Given the description of an element on the screen output the (x, y) to click on. 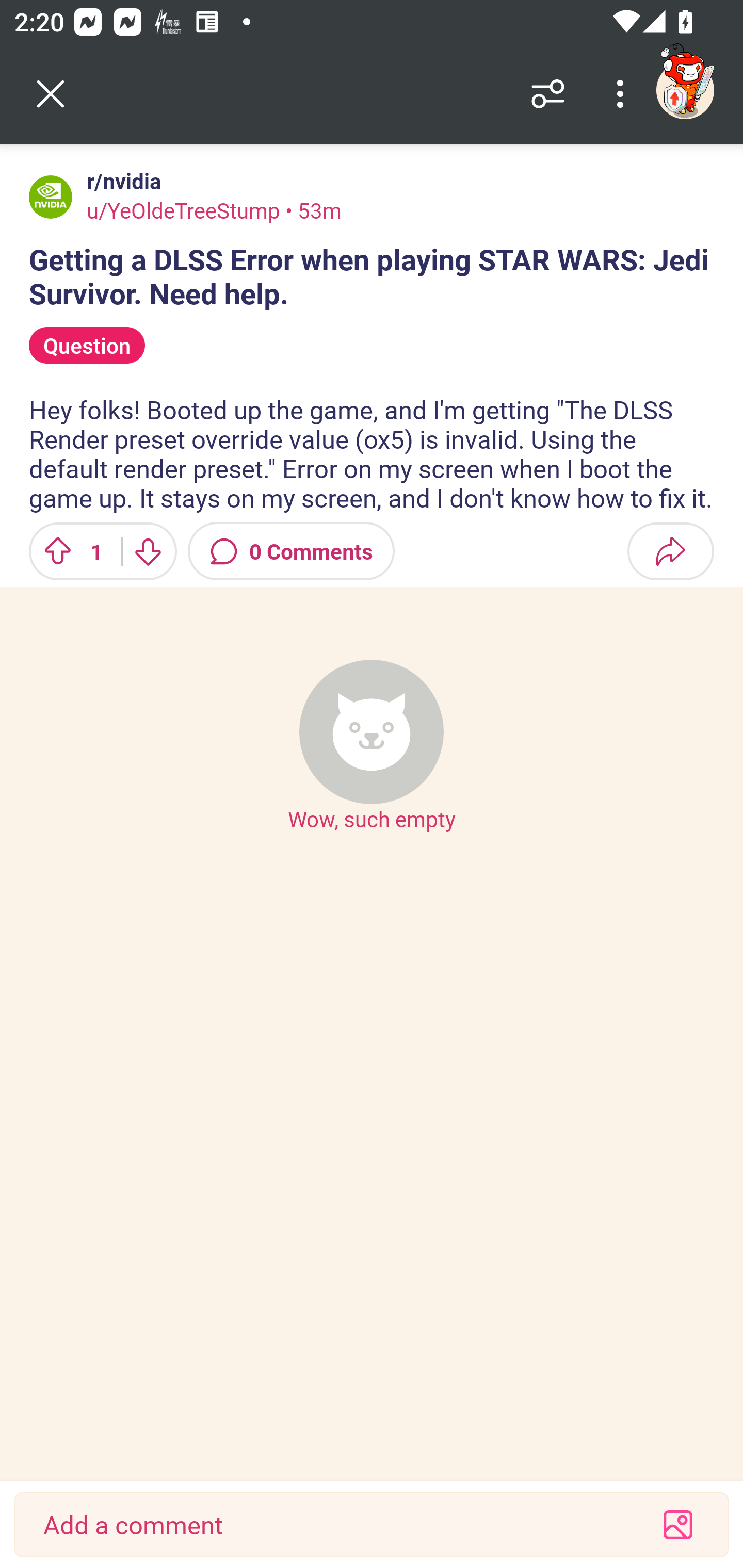
Back (50, 93)
TestAppium002 account (685, 90)
Sort comments (547, 93)
More options (623, 93)
r/nvidia (120, 181)
Avatar (50, 196)
u/YeOldeTreeStump (183, 210)
Question (86, 345)
Upvote 1 (67, 551)
Downvote (146, 551)
0 Comments (290, 551)
Share (670, 551)
Add a comment (335, 1524)
Add an image (677, 1524)
